Given the description of an element on the screen output the (x, y) to click on. 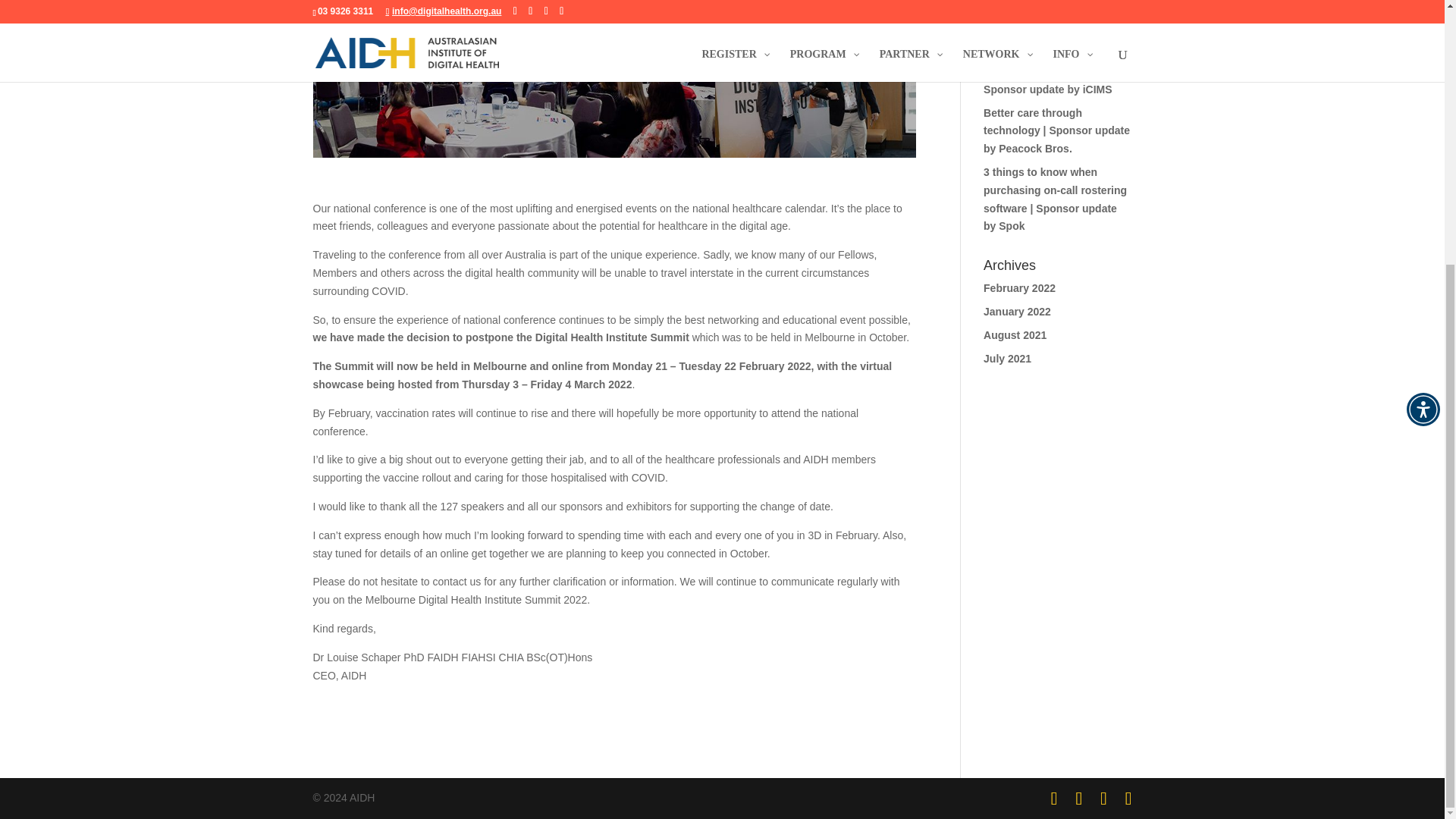
Accessibility Menu (1422, 27)
